Given the description of an element on the screen output the (x, y) to click on. 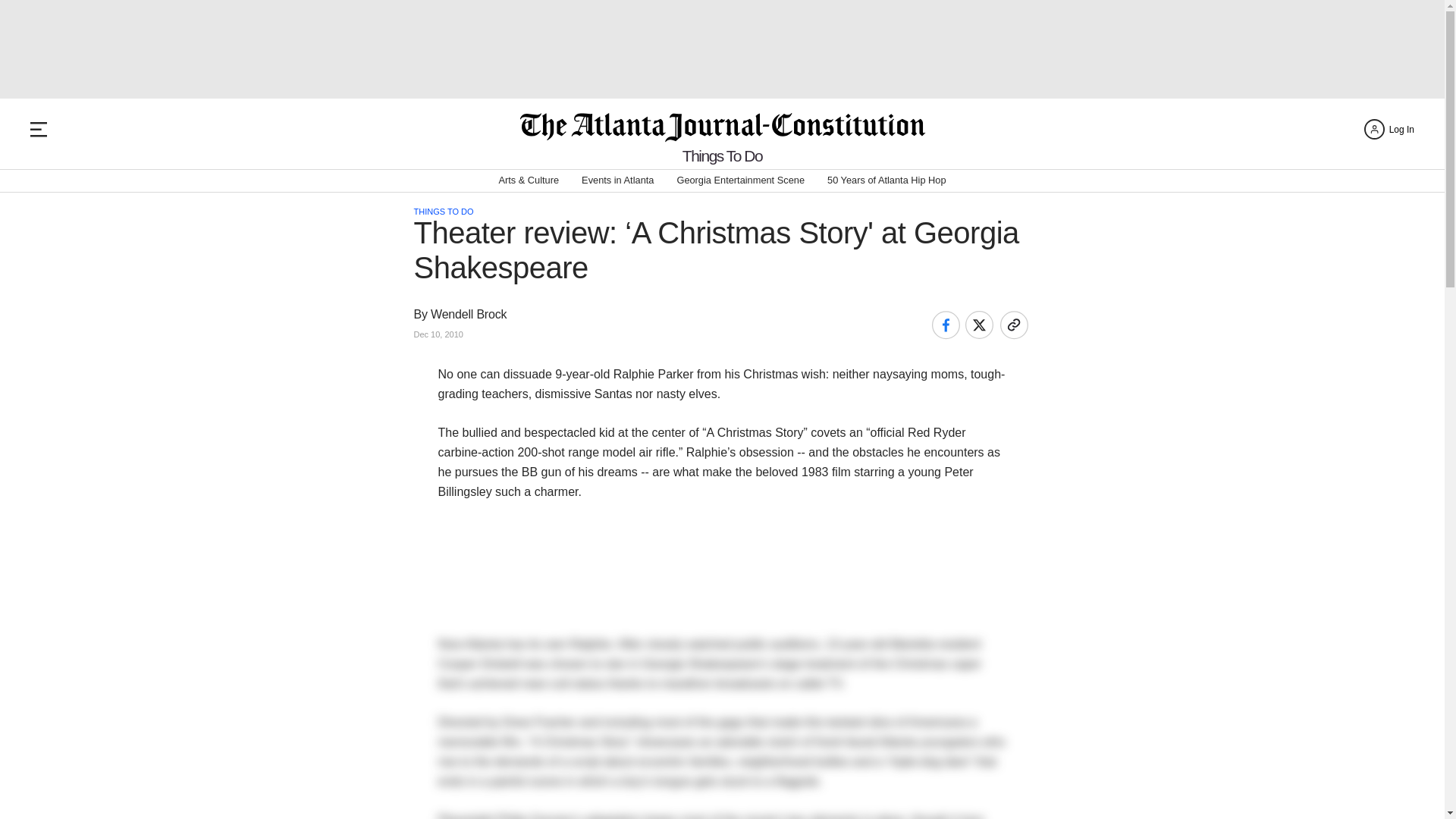
Events in Atlanta (616, 180)
50 Years of Atlanta Hip Hop (886, 180)
Georgia Entertainment Scene (741, 180)
Things To Do (721, 155)
